Given the description of an element on the screen output the (x, y) to click on. 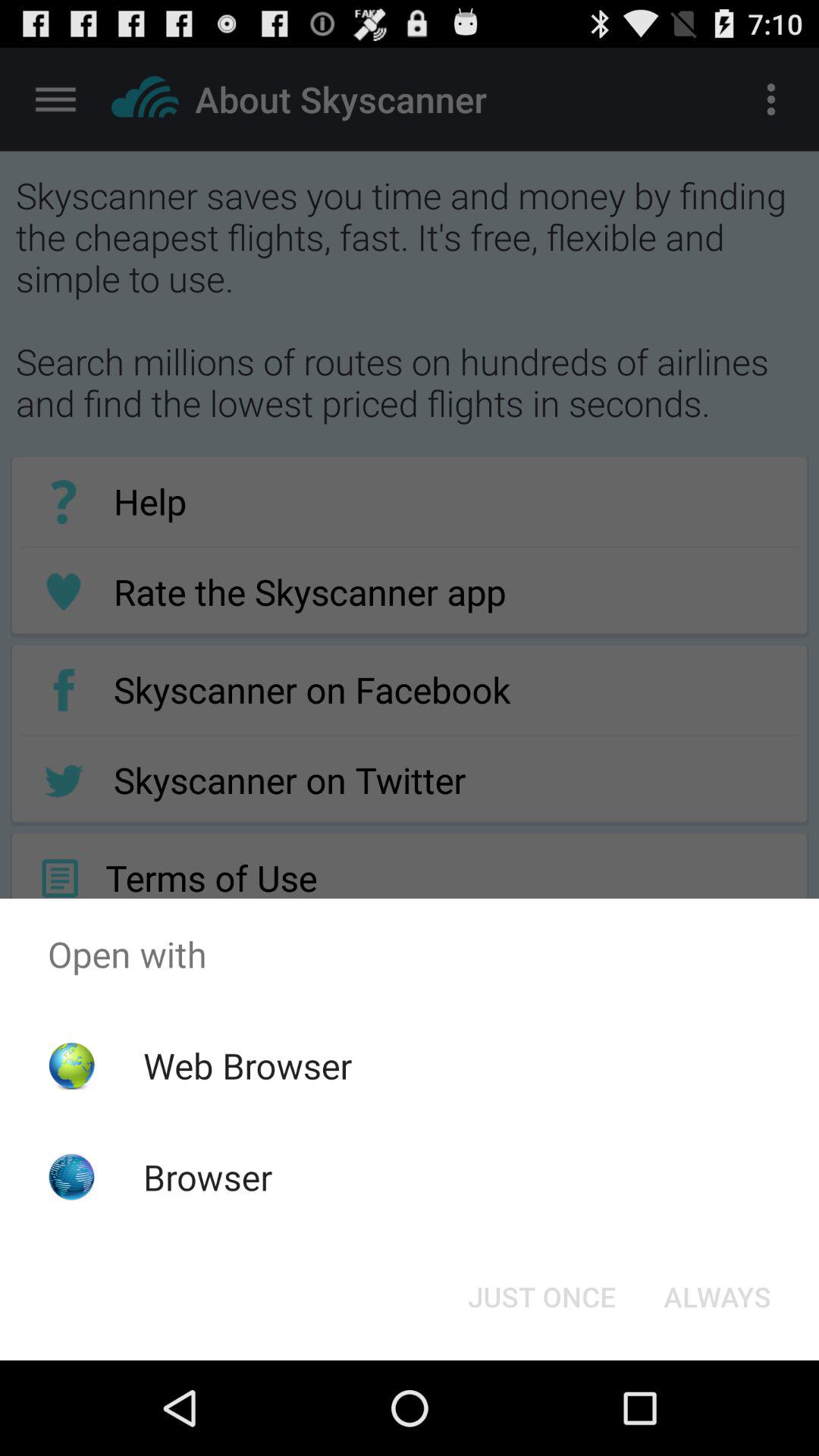
press the icon next to always item (541, 1296)
